Given the description of an element on the screen output the (x, y) to click on. 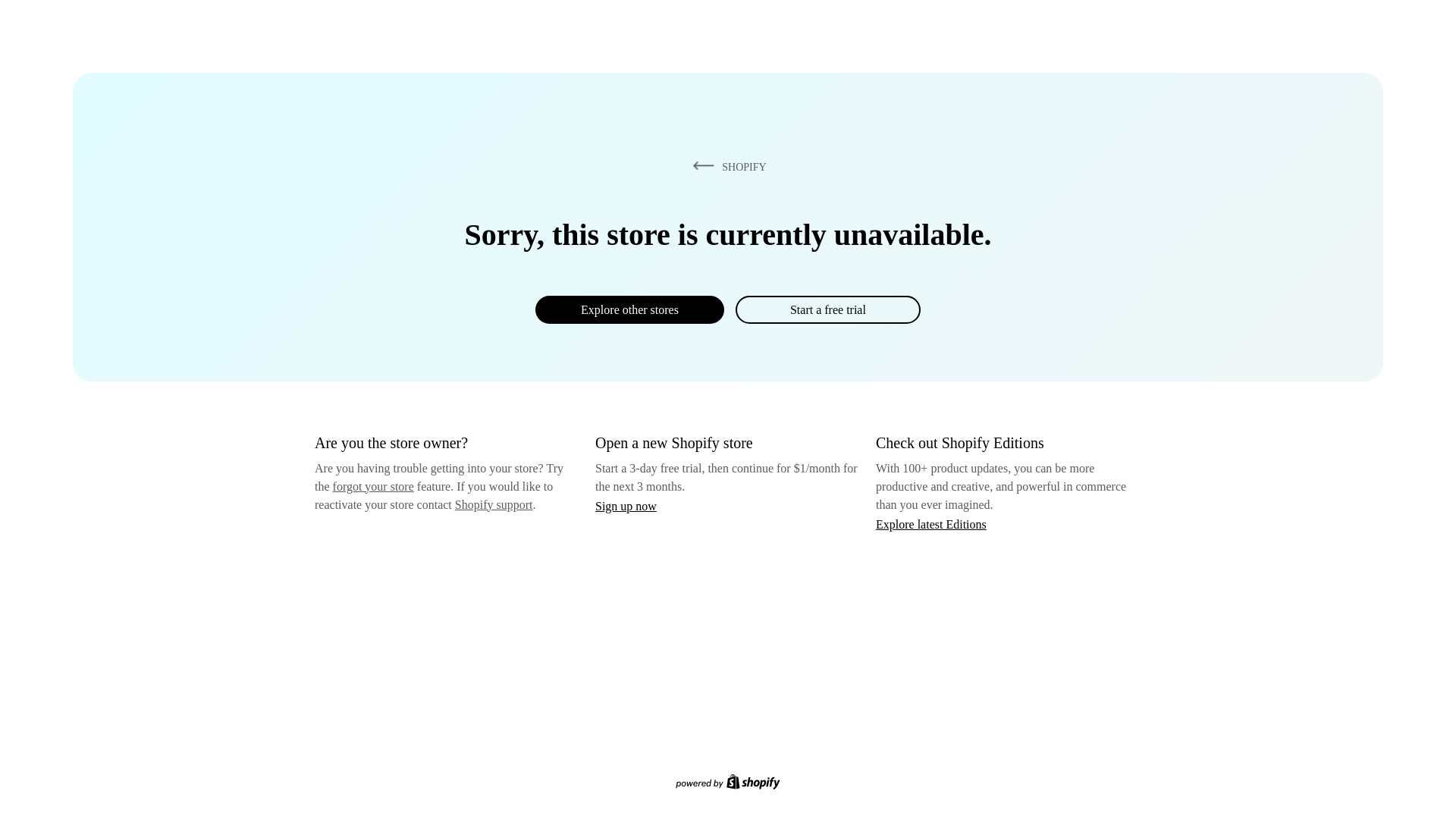
Explore latest Editions (931, 523)
Sign up now (625, 505)
Shopify support (493, 504)
Start a free trial (827, 309)
Explore other stores (629, 309)
forgot your store (373, 486)
SHOPIFY (726, 166)
